Given the description of an element on the screen output the (x, y) to click on. 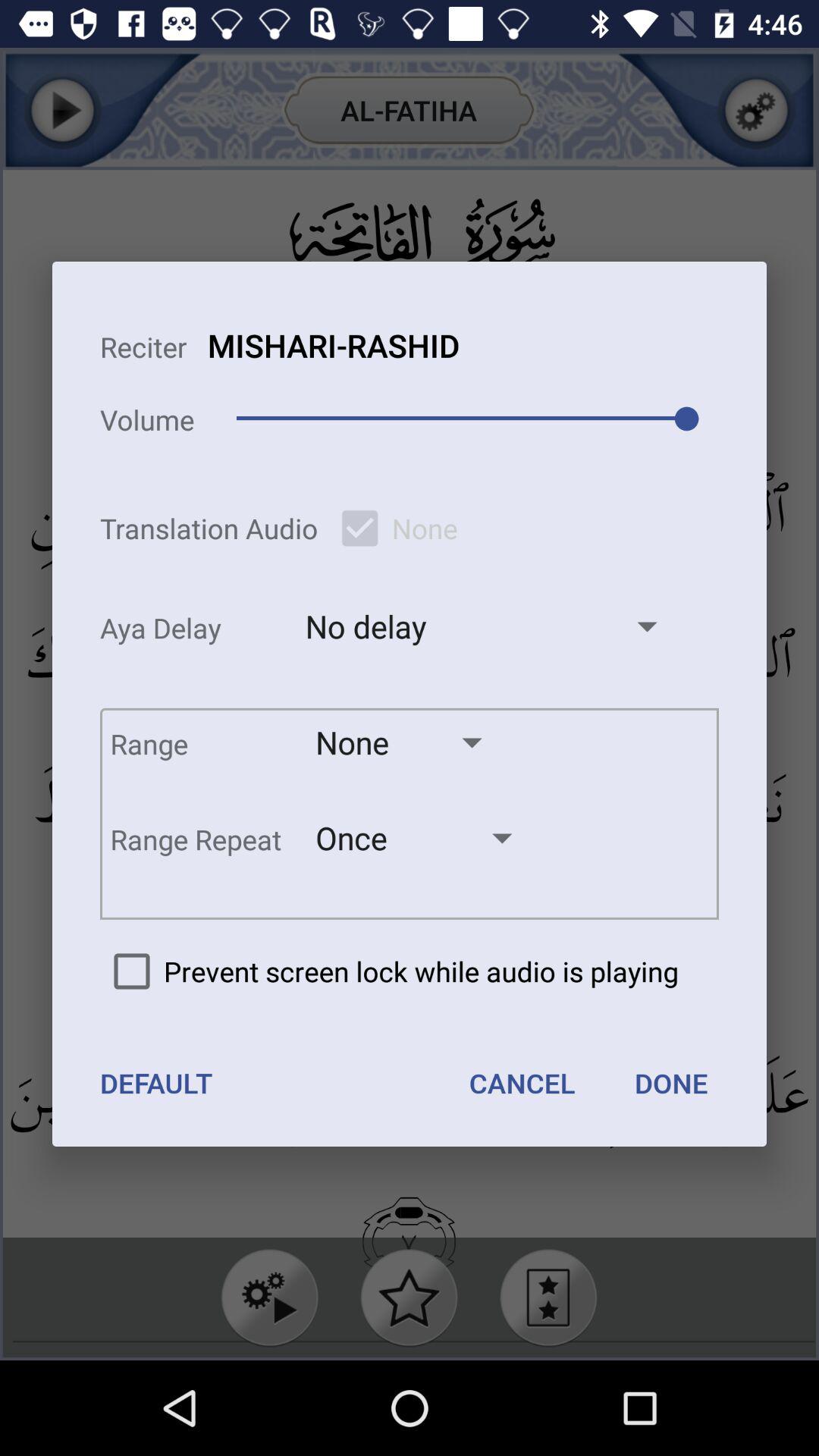
select done at the bottom right corner (670, 1082)
